Given the description of an element on the screen output the (x, y) to click on. 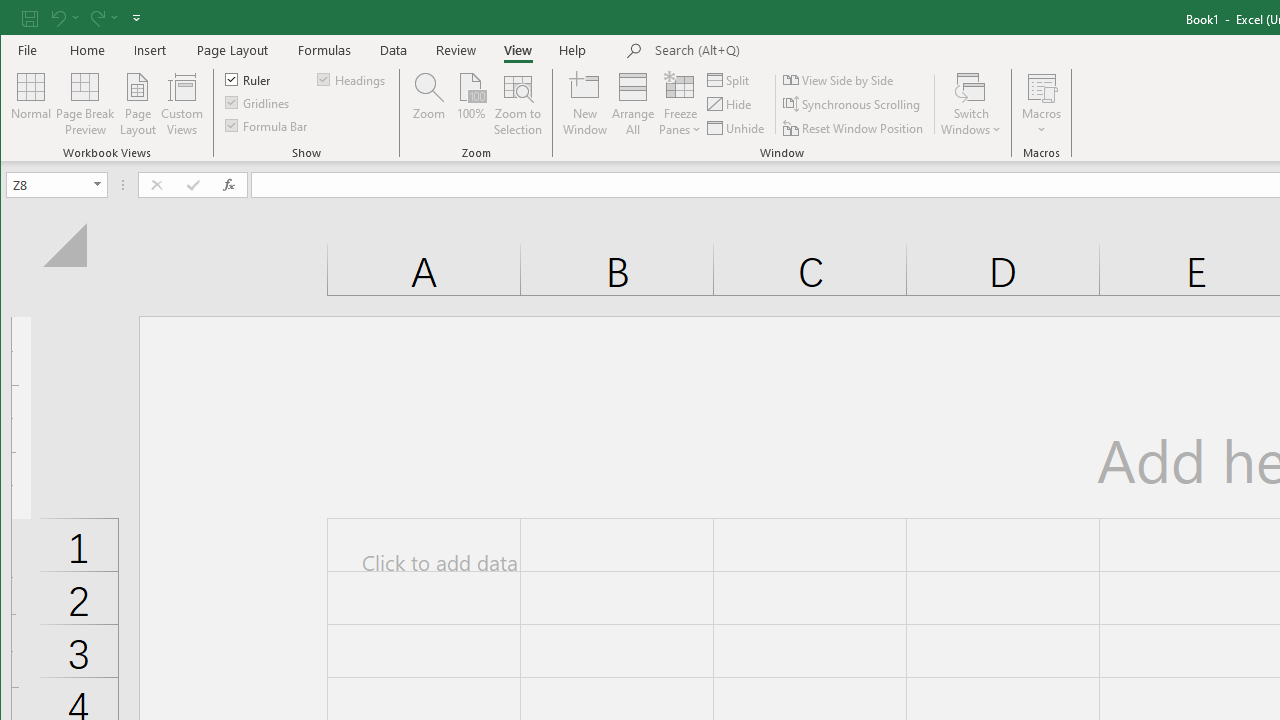
Split (730, 80)
Quick Access Toolbar (83, 17)
